Given the description of an element on the screen output the (x, y) to click on. 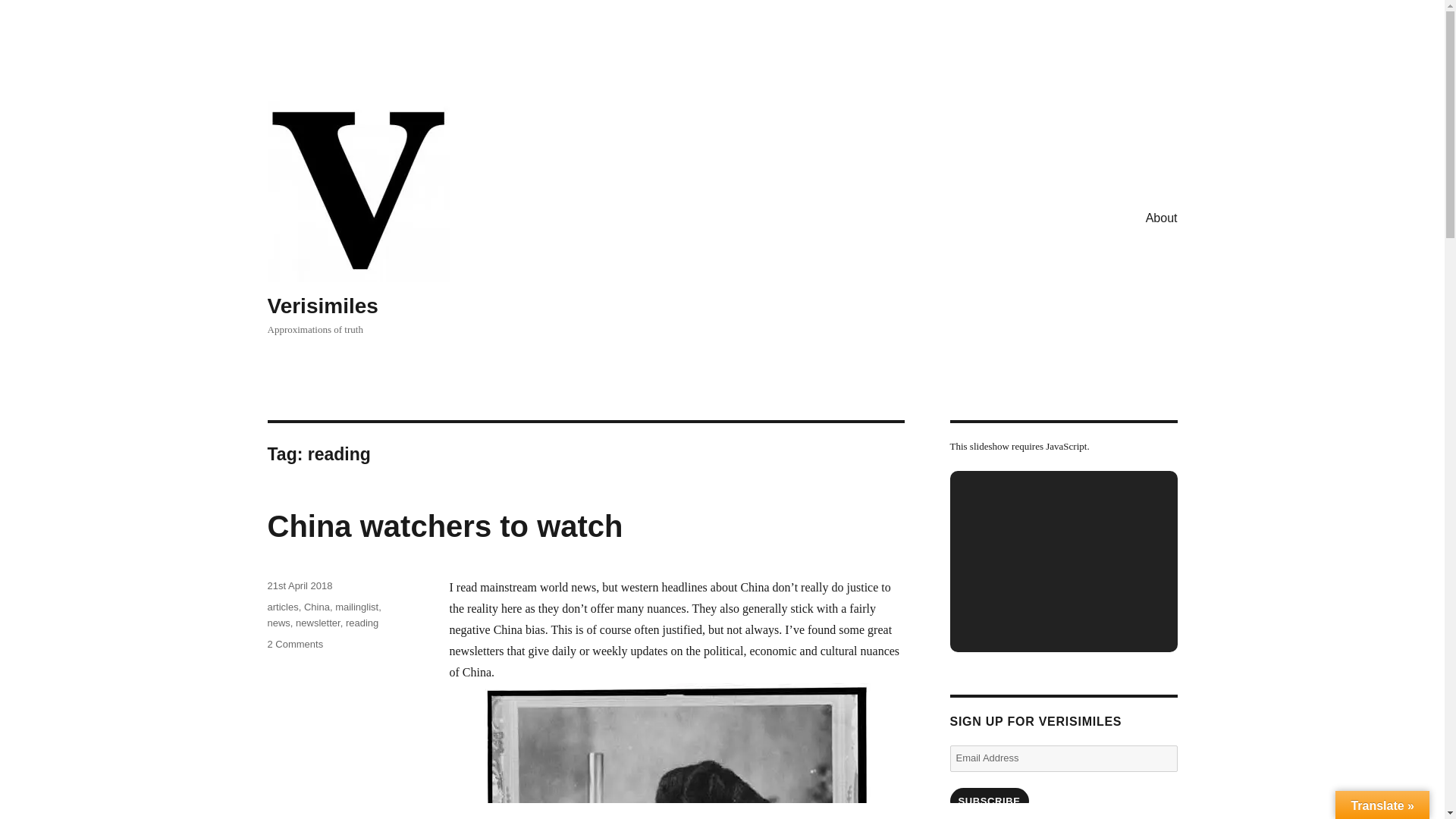
Verisimiles (321, 305)
About (1161, 217)
SUBSCRIBE (988, 800)
China (317, 606)
articles (282, 606)
reading (362, 622)
China watchers to watch (294, 644)
news (444, 525)
mailinglist (277, 622)
